Given the description of an element on the screen output the (x, y) to click on. 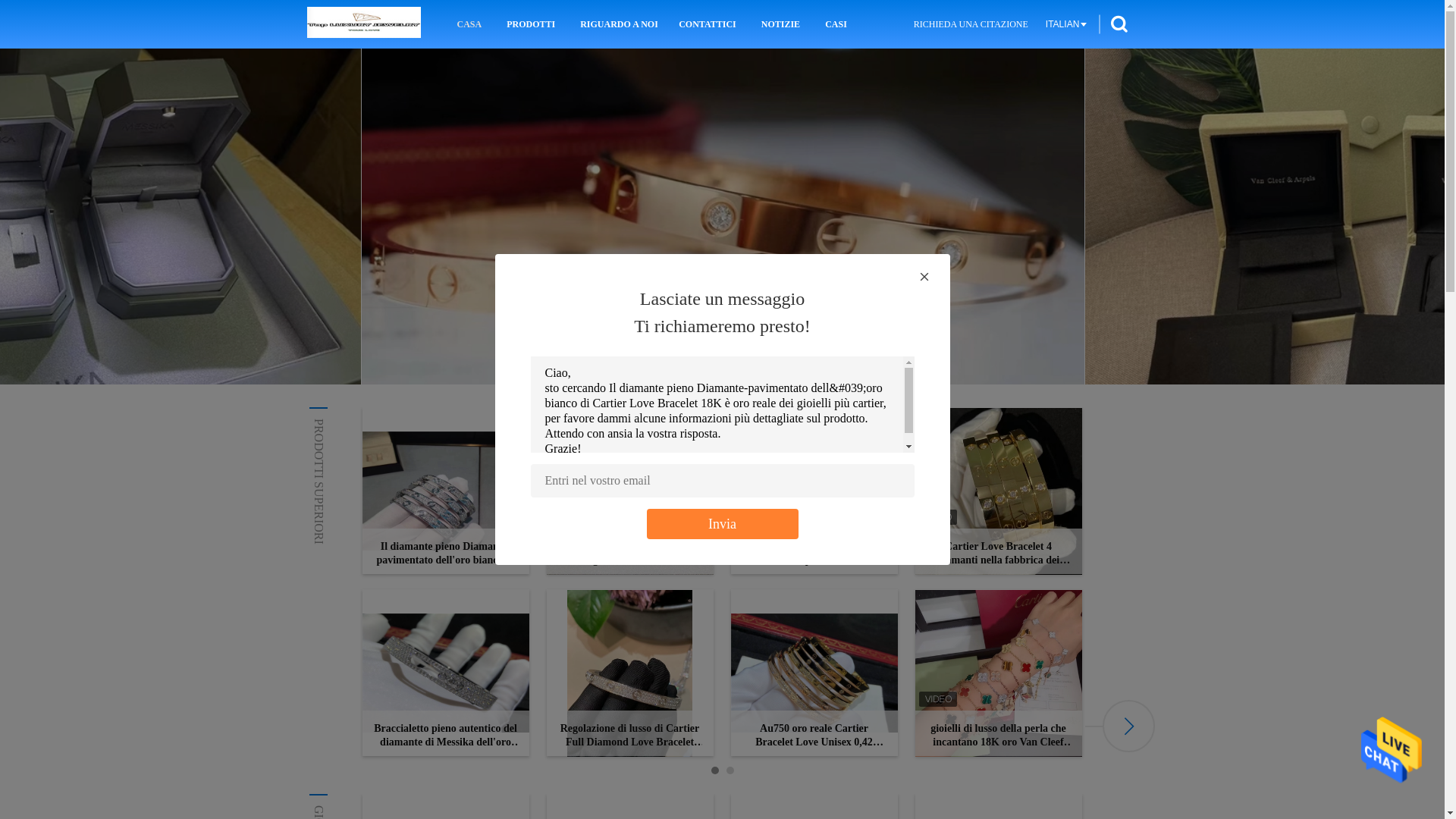
CONTATTICI Element type: text (707, 24)
GIOIELLI DEL DIAMANTE DELL'ORO 18K Element type: text (427, 811)
RICHIEDA UNA CITAZIONE Element type: text (970, 24)
CASA Element type: text (469, 24)
RIGUARDO A NOI Element type: text (616, 24)
anello di diamante dell&#039;oro 18K per le vendite Element type: hover (722, 216)
La CINA gioielli del diamante dell'oro 18k fabbricante Element type: hover (363, 23)
PRODOTTI Element type: text (530, 24)
CASI Element type: text (835, 24)
NOTIZIE Element type: text (780, 24)
